Given the description of an element on the screen output the (x, y) to click on. 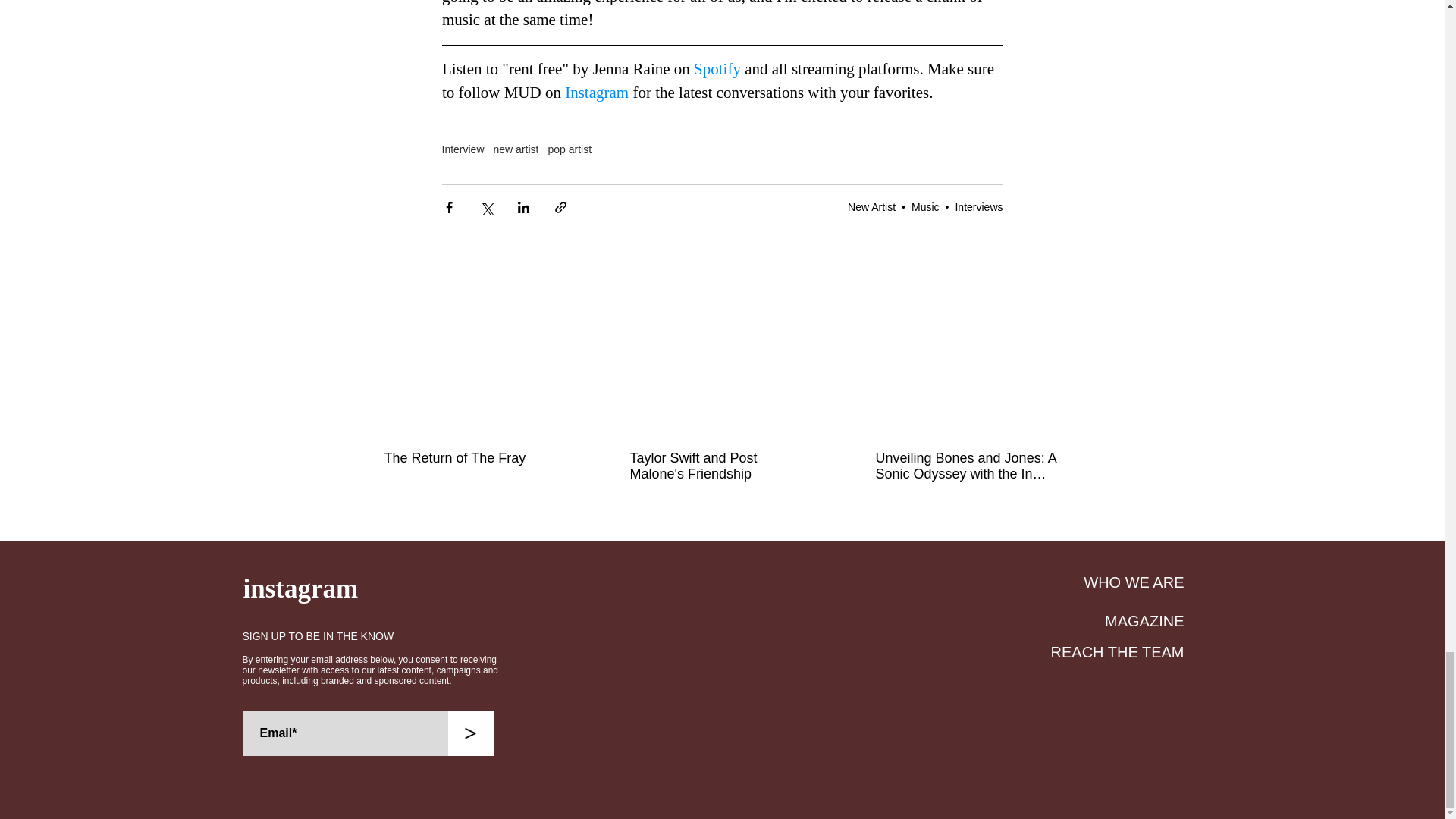
Interview (462, 149)
Music (925, 206)
instagram (300, 588)
MAGAZINE (1144, 620)
WHO WE ARE (1133, 582)
New Artist (871, 206)
REACH THE TEAM (1118, 651)
Taylor Swift and Post Malone's Friendship (720, 466)
Instagram (596, 92)
new artist (515, 149)
The Return of The Fray (475, 458)
Spotify (717, 68)
pop artist (569, 149)
Interviews (979, 206)
